Given the description of an element on the screen output the (x, y) to click on. 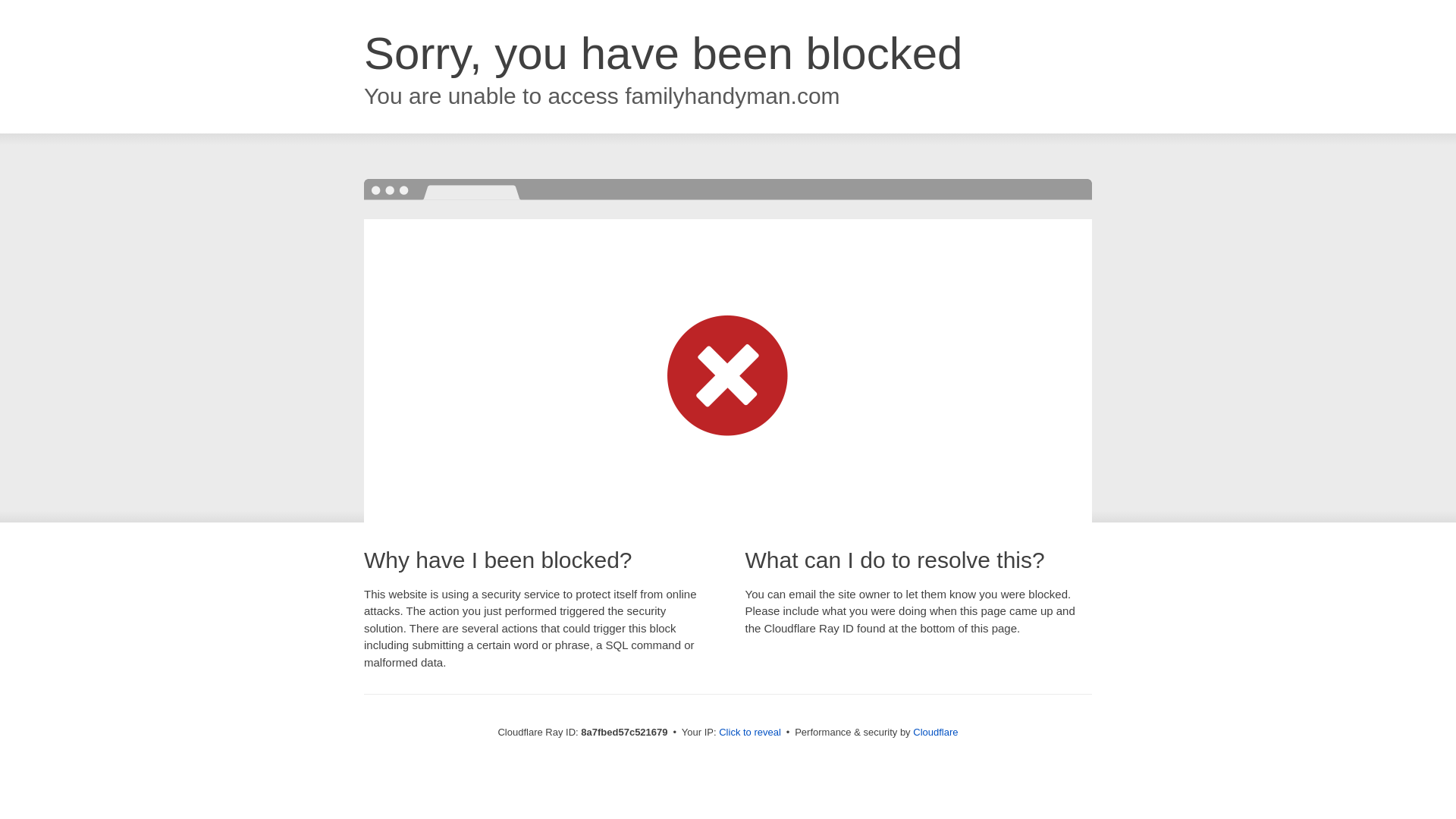
Cloudflare (935, 731)
Click to reveal (749, 732)
